Given the description of an element on the screen output the (x, y) to click on. 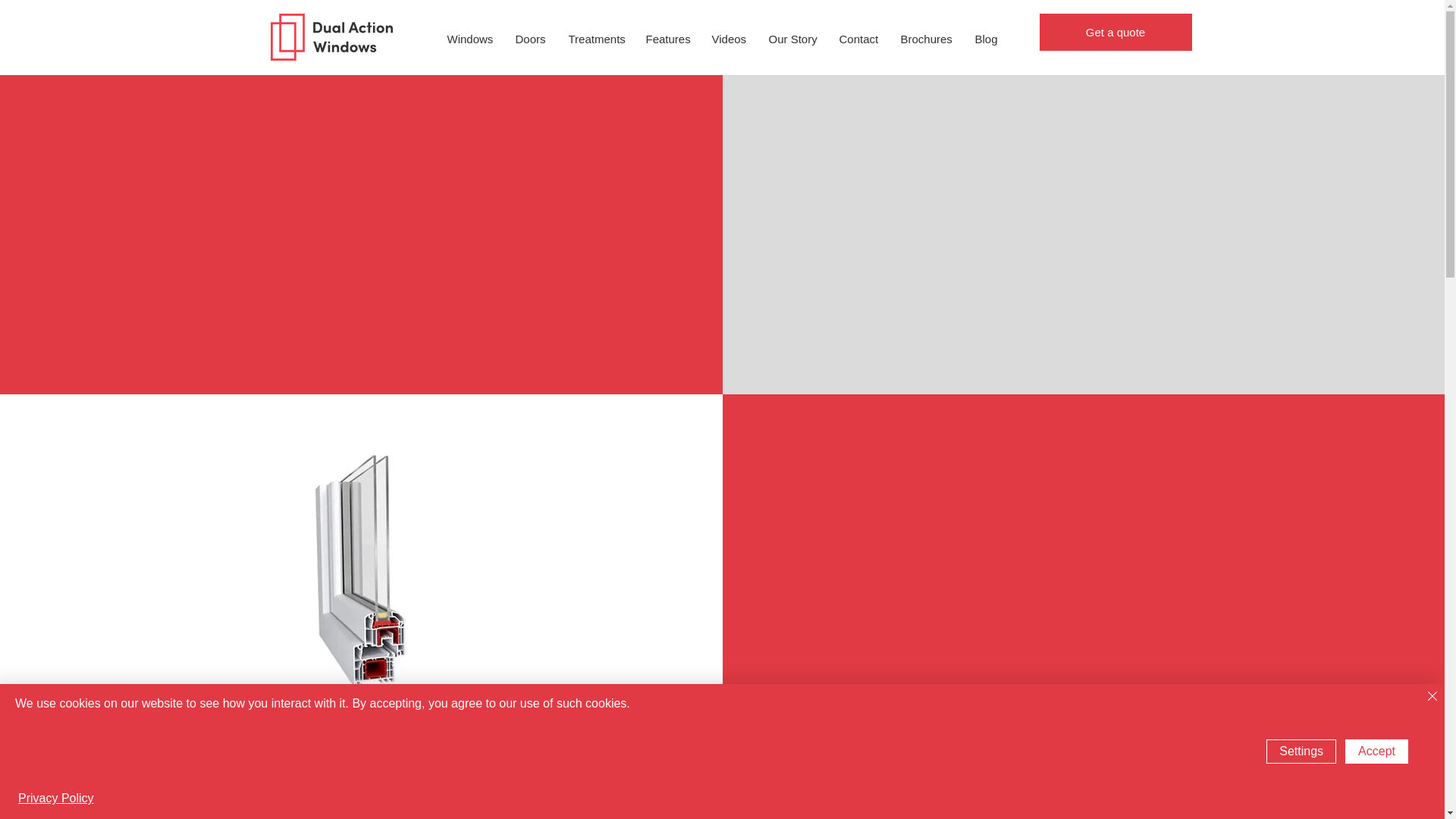
Videos (728, 39)
Contact (858, 39)
Accept (1376, 751)
Doors (529, 39)
Brochures (925, 39)
Privacy Policy (55, 797)
Get a quote (1115, 31)
Settings (1301, 751)
Treatments (594, 39)
Windows (469, 39)
Our Story (792, 39)
Blog (985, 39)
